Given the description of an element on the screen output the (x, y) to click on. 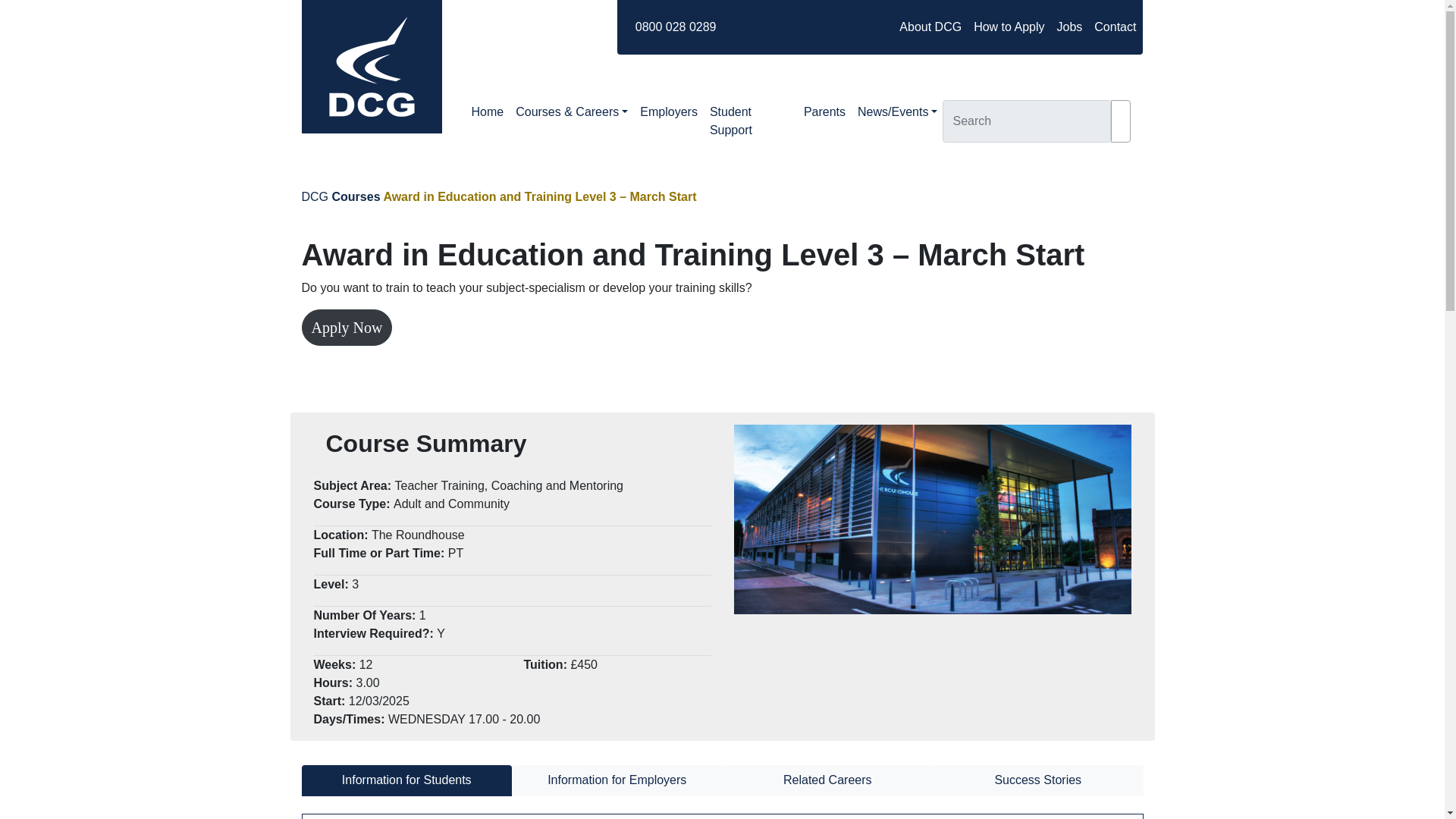
Courses (355, 196)
How to Apply (1008, 26)
About DCG (929, 26)
Success Stories (1037, 779)
Contact (1114, 26)
Home (488, 112)
Related Careers (827, 779)
Information for Students (406, 779)
Student Support (750, 121)
Apply Now (347, 327)
Jobs (1070, 26)
Information for Employers (617, 779)
DCG (315, 196)
Employers (668, 112)
